Given the description of an element on the screen output the (x, y) to click on. 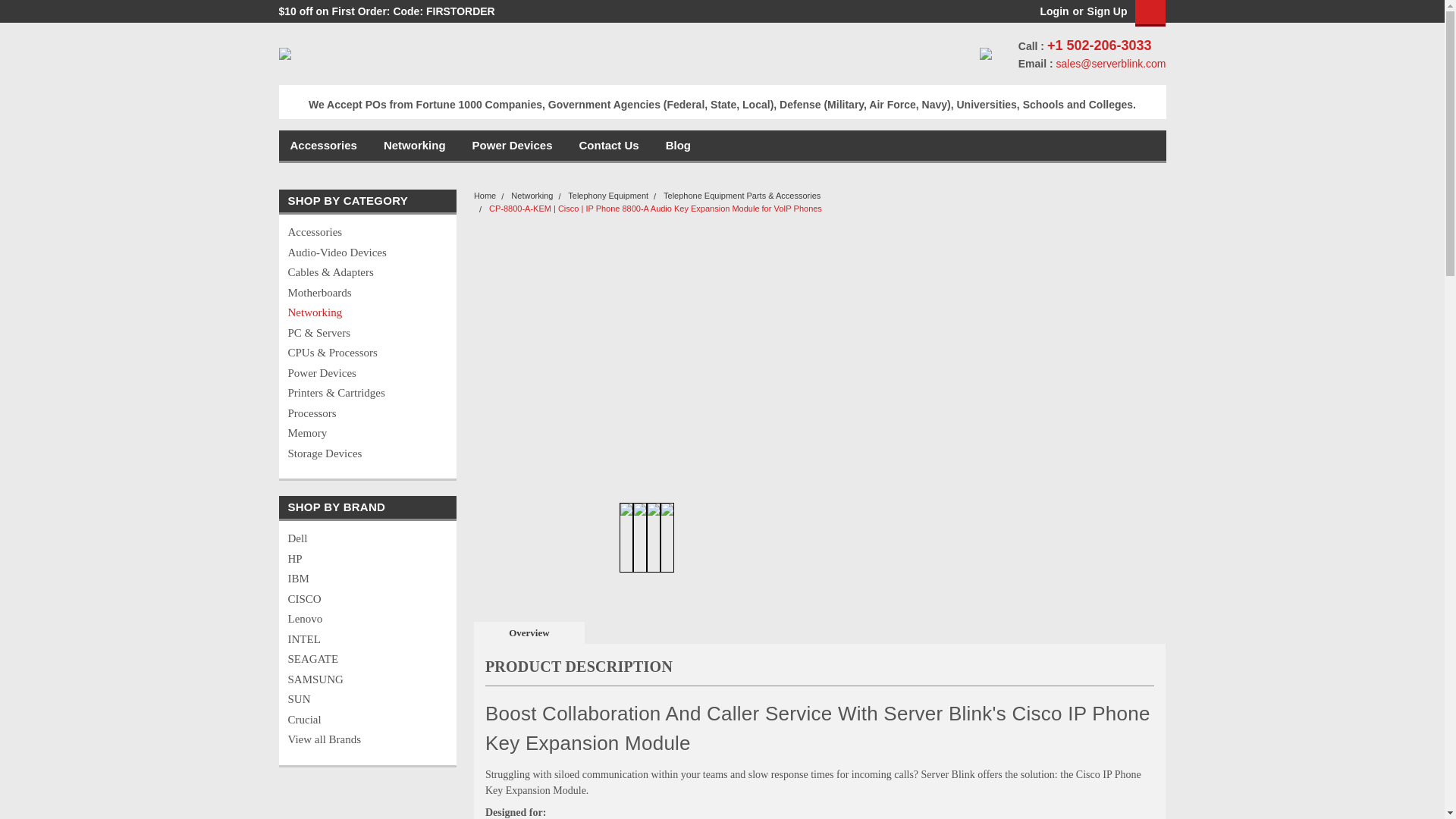
Login (1054, 11)
Accessories (335, 145)
Accessories (354, 231)
Blog (691, 145)
Networking (427, 145)
SERVER BLINK (285, 53)
Power Devices (525, 145)
Contact Us (622, 145)
Sign Up (1104, 11)
